Given the description of an element on the screen output the (x, y) to click on. 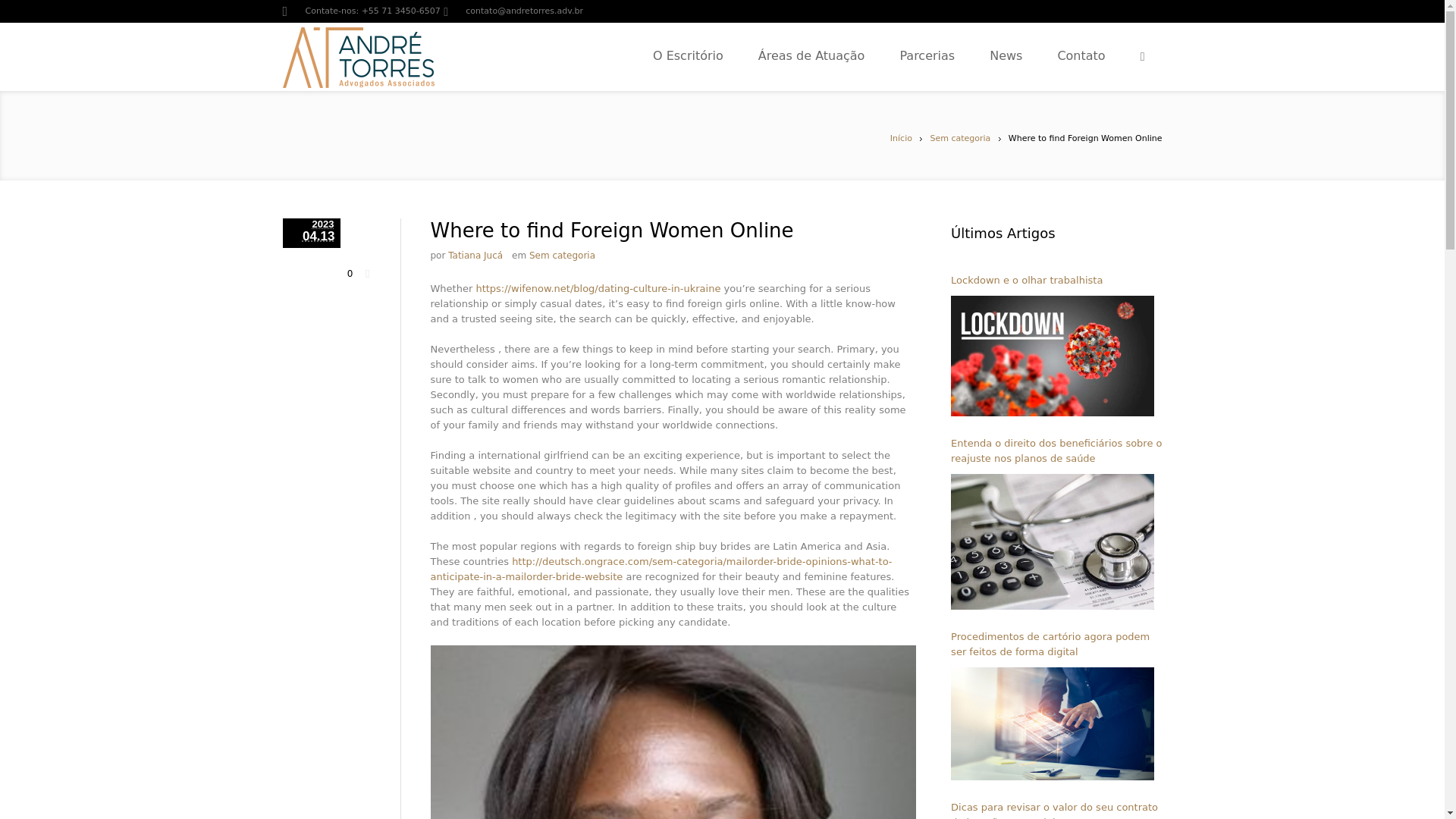
Lockdown e o olhar trabalhista (1052, 355)
abril 13, 2023 (310, 233)
Contato (1139, 55)
Sem categoria (562, 255)
Parcerias (989, 55)
Lockdown e o olhar trabalhista (1055, 280)
News (1056, 55)
Sem categoria (960, 138)
